Given the description of an element on the screen output the (x, y) to click on. 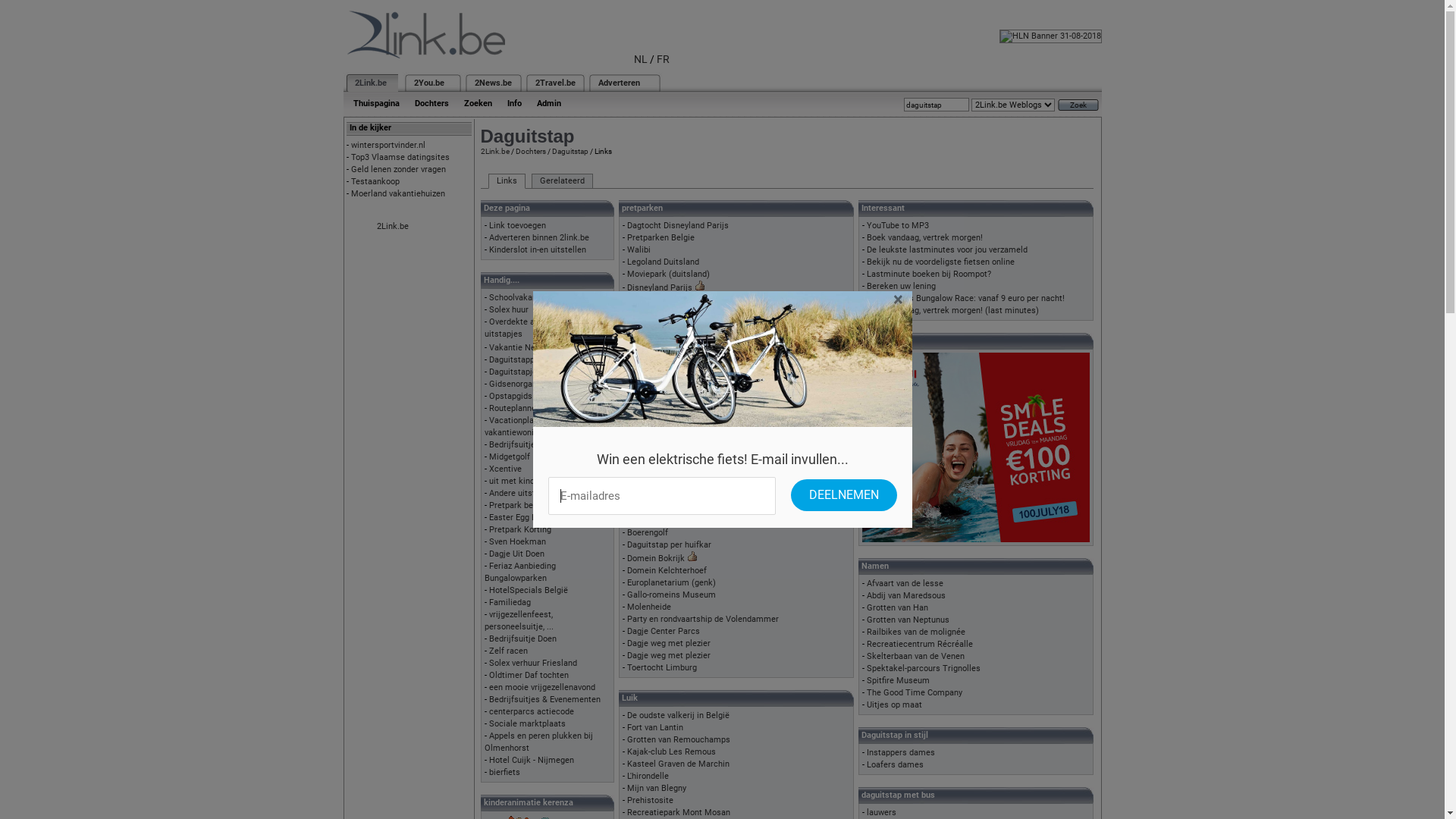
Molenheide Element type: text (648, 606)
Gallo-romeins Museum Element type: text (670, 594)
Grotten van Han Element type: text (896, 607)
Kasteel Graven de Marchin Element type: text (677, 763)
Top3 Vlaamse datingsites Element type: text (399, 157)
Sven Hoekman Element type: text (516, 541)
Bedrijfsuitjes & Evenementen Element type: text (543, 699)
Boerengolf Element type: text (646, 532)
Appels en peren plukken bij Olmenhorst Element type: text (537, 742)
Gerelateerd Element type: text (561, 180)
Dagtocht Disneyland Parijs Element type: text (677, 225)
Geld lenen zonder vragen Element type: text (397, 169)
NL Element type: text (640, 59)
Uitjes op maat Element type: text (893, 704)
BellewaerdeFun Element type: text (656, 349)
Dochters Element type: text (430, 103)
een mooie vrijgezellenavond Element type: text (541, 687)
Solex verhuur Friesland Element type: text (532, 663)
Overdekte attracties & indoor uitstapjes Element type: text (541, 327)
Boek vandaag, vertrek morgen! Element type: text (924, 237)
Bedrijfsuitje Doen Element type: text (521, 638)
Pretpark Korting Element type: text (519, 529)
Lastminute boeken bij Roompot? Element type: text (928, 274)
uit met kinderen Element type: text (519, 481)
De Efteling Element type: text (646, 301)
Bedrijfsuitjes Element type: text (513, 444)
centerparcs actiecode Element type: text (530, 711)
Afvaart van de lesse Element type: text (904, 583)
Abdij van Maredsous Element type: text (905, 595)
Grotten van Neptunus Element type: text (907, 619)
Vacationplace.eu vakantiewoningen Element type: text (518, 426)
2Travel.be Element type: text (555, 82)
Pretparken Element type: text (647, 362)
Walibi Element type: text (637, 249)
Fort van Lantin Element type: text (654, 727)
Schoolvakantie Doen Element type: text (527, 297)
Legoland Duitsland Element type: text (662, 261)
Info Element type: text (513, 103)
Dagje Uit Doen Element type: text (515, 553)
Pretparken Belgie Element type: text (659, 237)
Daguitstap Element type: text (570, 151)
Xcentive Element type: text (504, 468)
Dagje weg met plezier Element type: text (667, 643)
Bereken uw lening Element type: text (900, 286)
Adverteren Element type: text (618, 82)
Skelterbaan van de Venen Element type: text (914, 656)
vrijgezellenfeest, personeelsuitje, ... Element type: text (517, 620)
Gidsenorganisatie Vizit Element type: text (532, 384)
bierfiets Element type: text (503, 772)
Recreatiepark Mont Mosan Element type: text (677, 812)
lauwers Element type: text (880, 812)
Europlanetarium (genk) Element type: text (670, 582)
2News.be Element type: text (492, 82)
Moerland vakantiehuizen Element type: text (397, 193)
Disneyland Parijs Element type: text (658, 287)
Andere uitstap Element type: text (515, 493)
Dochters Element type: text (530, 151)
Vakantie Nederland Element type: text (525, 347)
wintersportvinder.nl Element type: text (387, 145)
Spektakel-parcours Trignolles Element type: text (922, 668)
Loafers dames Element type: text (894, 764)
FR Element type: text (662, 59)
CenterParcs Bungalow Race: vanaf 9 euro per nacht! Element type: text (964, 298)
Domein Bokrijk Element type: text (655, 558)
Moviepark (duitsland) Element type: text (667, 274)
Mijn van Blegny Element type: text (655, 788)
Spitfire Museum Element type: text (897, 680)
Bobbejaanland Element type: text (653, 337)
Party en rondvaartship de Volendammer Element type: text (702, 619)
De leukste lastminutes voor jou verzameld Element type: text (946, 249)
Kajak-club Les Remous Element type: text (670, 751)
Daguitstap per huifkar Element type: text (668, 544)
Oldtimer Daf tochten Element type: text (527, 675)
Adverteren binnen 2link.be Element type: text (538, 237)
Instappers dames Element type: text (900, 752)
YouTube to MP3 Element type: text (897, 225)
Feriaz Aanbieding Bungalowparken Element type: text (519, 572)
Dagje Center Parcs Element type: text (662, 631)
Zoek Element type: text (1077, 103)
Dagje weg met plezier Element type: text (667, 655)
Domein Kelchterhoef Element type: text (666, 570)
Bekijk nu de voordeligste fietsen online Element type: text (939, 261)
Admin Element type: text (548, 103)
Routeplanners Element type: text (515, 408)
Toertocht Limburg Element type: text (661, 667)
Zelf racen Element type: text (507, 650)
L'hirondelle Element type: text (647, 776)
Kinderslot in-en uitstellen Element type: text (536, 249)
2Link.be Element type: text (391, 226)
Hotel Cuijk - Nijmegen Element type: text (530, 760)
2Link.be Element type: text (494, 151)
Easter Egg Events bedrijfsuitjes Element type: text (548, 517)
Thuispagina Element type: text (376, 103)
Solex huur Element type: text (507, 309)
Midgetgolf Element type: text (508, 456)
Familiedag Element type: text (509, 602)
Alden Biesen Element type: text (650, 520)
Links Element type: text (506, 180)
Link toevoegen Element type: text (516, 225)
2Link.be Element type: text (370, 82)
Boudewijnpark Element type: text (653, 325)
Testaankoop Element type: text (374, 181)
Boek vandaag, vertrek morgen! (last minutes) Element type: text (952, 310)
Pretpark bezoeken met korting Element type: text (546, 505)
Sociale marktplaats Element type: text (526, 723)
Daguitstappen zomerbrochure Element type: text (545, 359)
Grotten van Remouchamps Element type: text (677, 739)
Plopsaland De Panne Element type: text (666, 313)
The Good Time Company Element type: text (913, 692)
Zoeken Element type: text (477, 103)
Prehistosite Element type: text (649, 800)
2You.be Element type: text (429, 82)
